Given the description of an element on the screen output the (x, y) to click on. 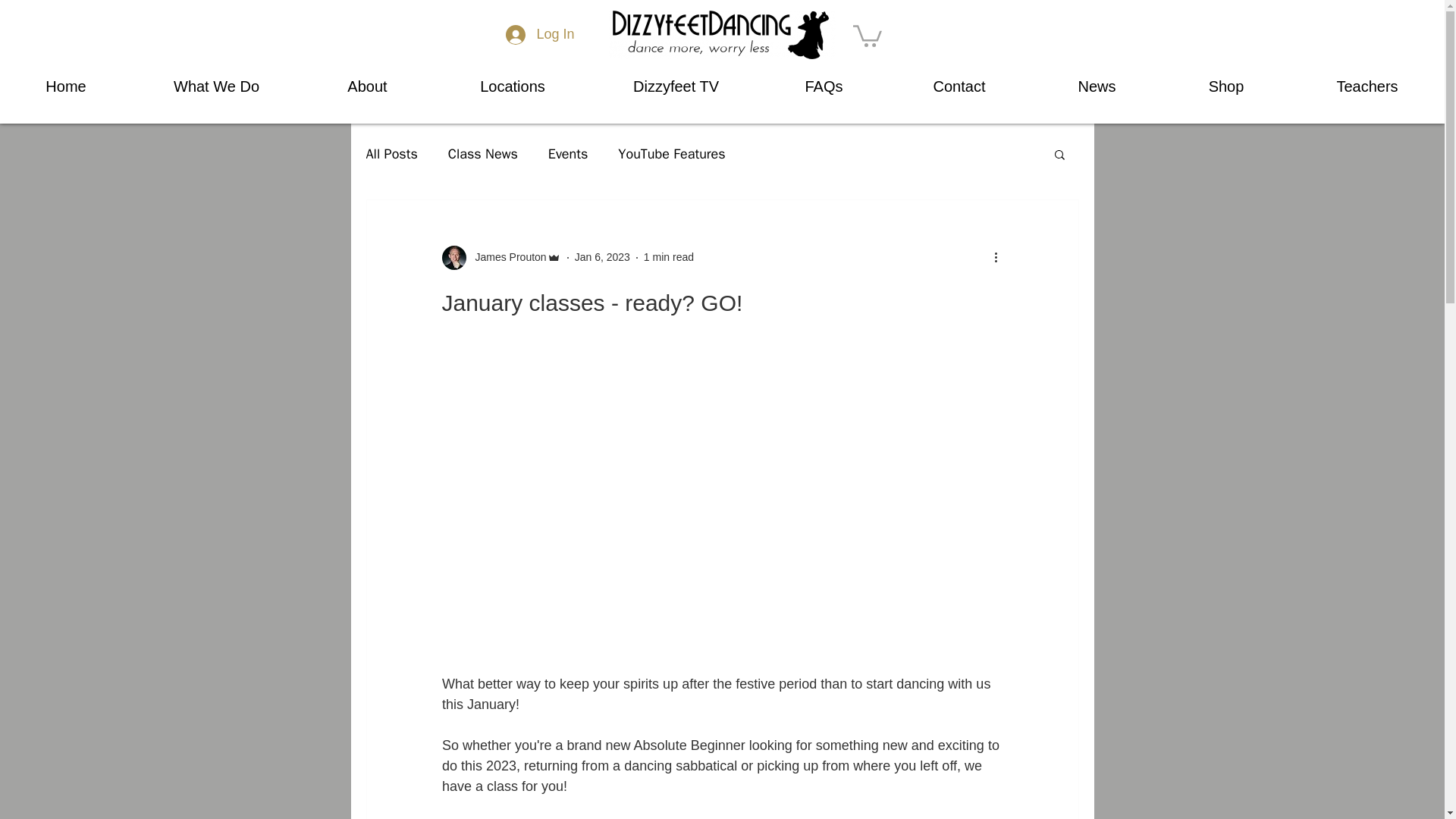
Home (66, 86)
James Prouton (500, 257)
Locations (512, 86)
James Prouton (505, 257)
Events (568, 153)
FAQs (823, 86)
Shop (1225, 86)
1 min read (668, 256)
What We Do (216, 86)
YouTube Features (671, 153)
News (1095, 86)
About (367, 86)
Class News (483, 153)
Log In (540, 34)
All Posts (390, 153)
